Given the description of an element on the screen output the (x, y) to click on. 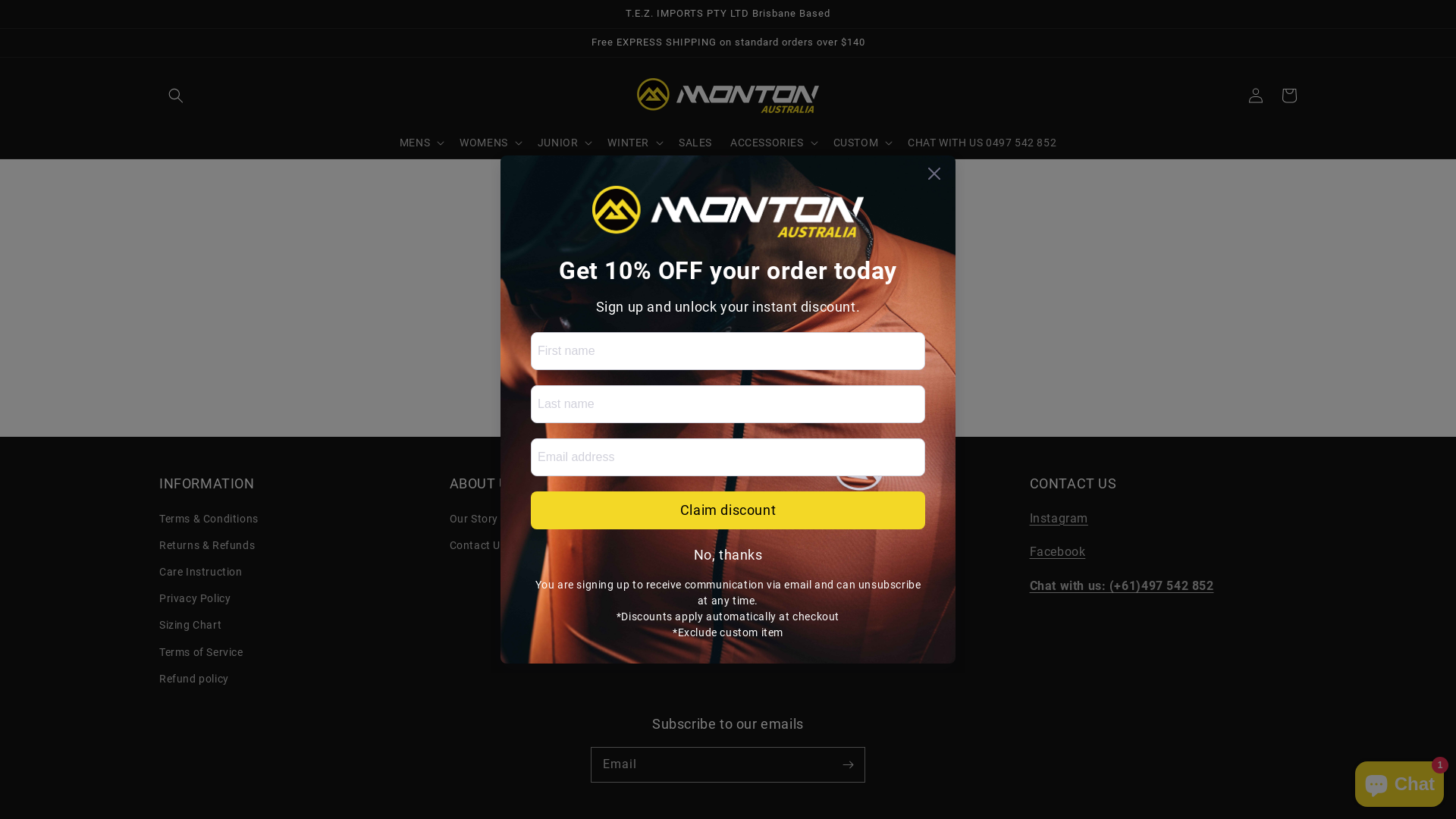
Terms & Conditions Element type: text (208, 520)
Cart Element type: text (1288, 95)
Chat with us: (+61)497 542 852 Element type: text (1121, 585)
Privacy Policy Element type: text (194, 598)
Sizing Chart Element type: text (190, 624)
Continue shopping Element type: text (727, 366)
SALES Element type: text (695, 142)
Facebook Element type: text (1057, 551)
Shopify online store chat Element type: hover (1399, 780)
Log in Element type: text (1255, 95)
Terms of Service Element type: text (201, 652)
Returns & Refunds Element type: text (206, 545)
Care Instruction Element type: text (200, 571)
Our Story Element type: text (472, 520)
Team Portal Element type: text (770, 545)
CHAT WITH US 0497 542 852 Element type: text (981, 142)
Custom Enquires Element type: text (782, 520)
Instagram Element type: text (1058, 518)
Refund policy Element type: text (194, 678)
Contact Us Element type: text (476, 545)
